Given the description of an element on the screen output the (x, y) to click on. 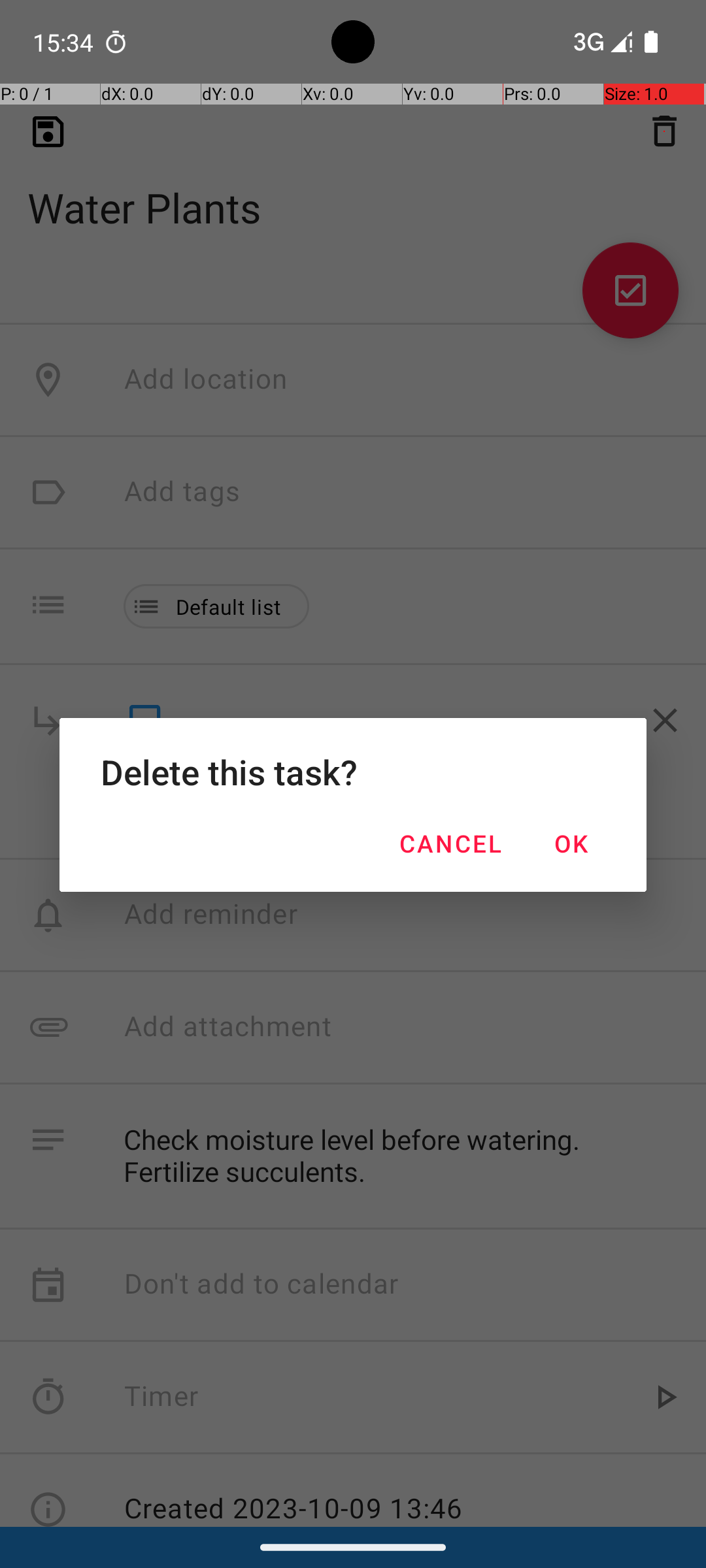
Delete this task? Element type: android.widget.TextView (352, 771)
